Given the description of an element on the screen output the (x, y) to click on. 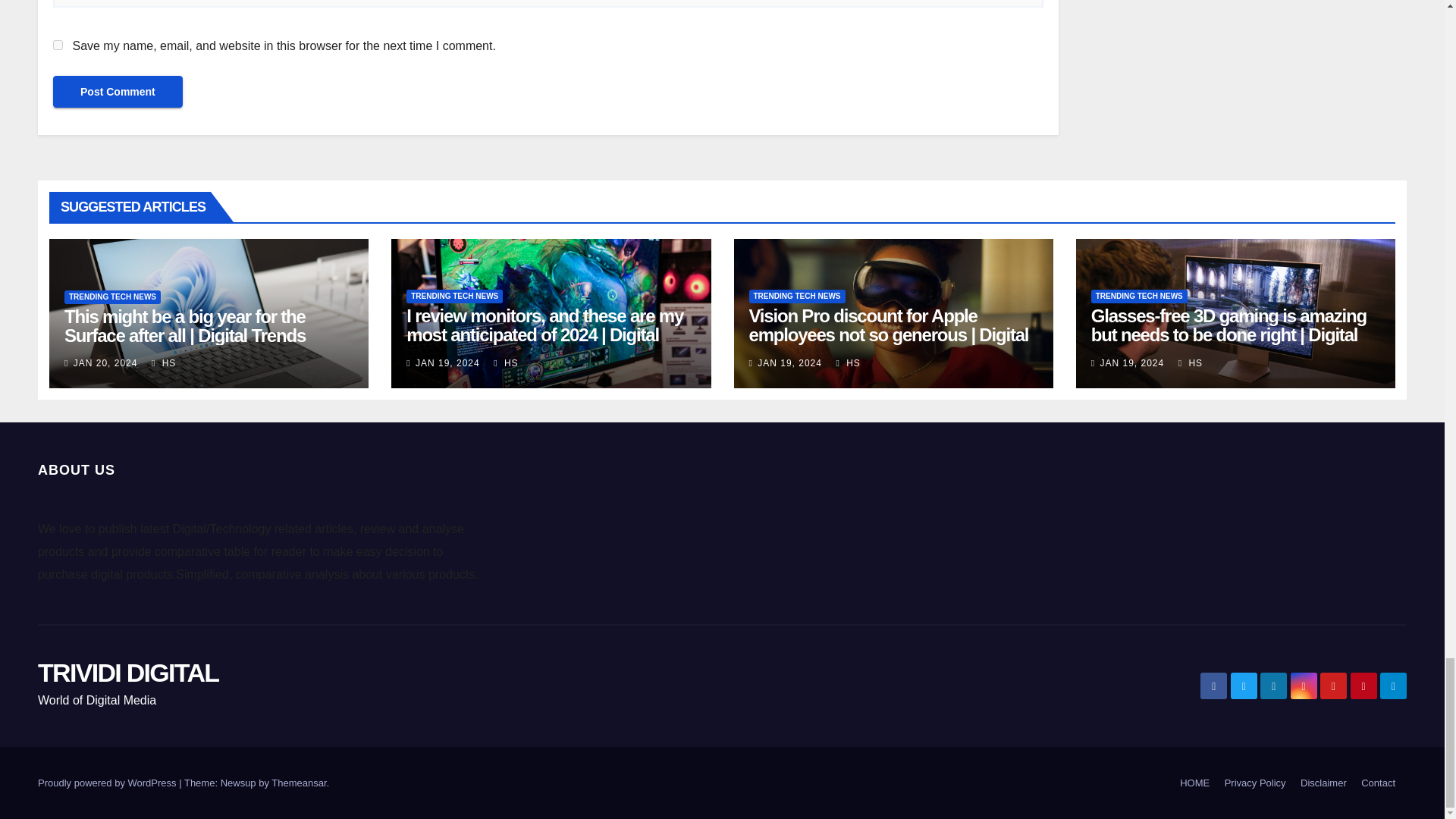
yes (57, 44)
Post Comment (117, 91)
